Given the description of an element on the screen output the (x, y) to click on. 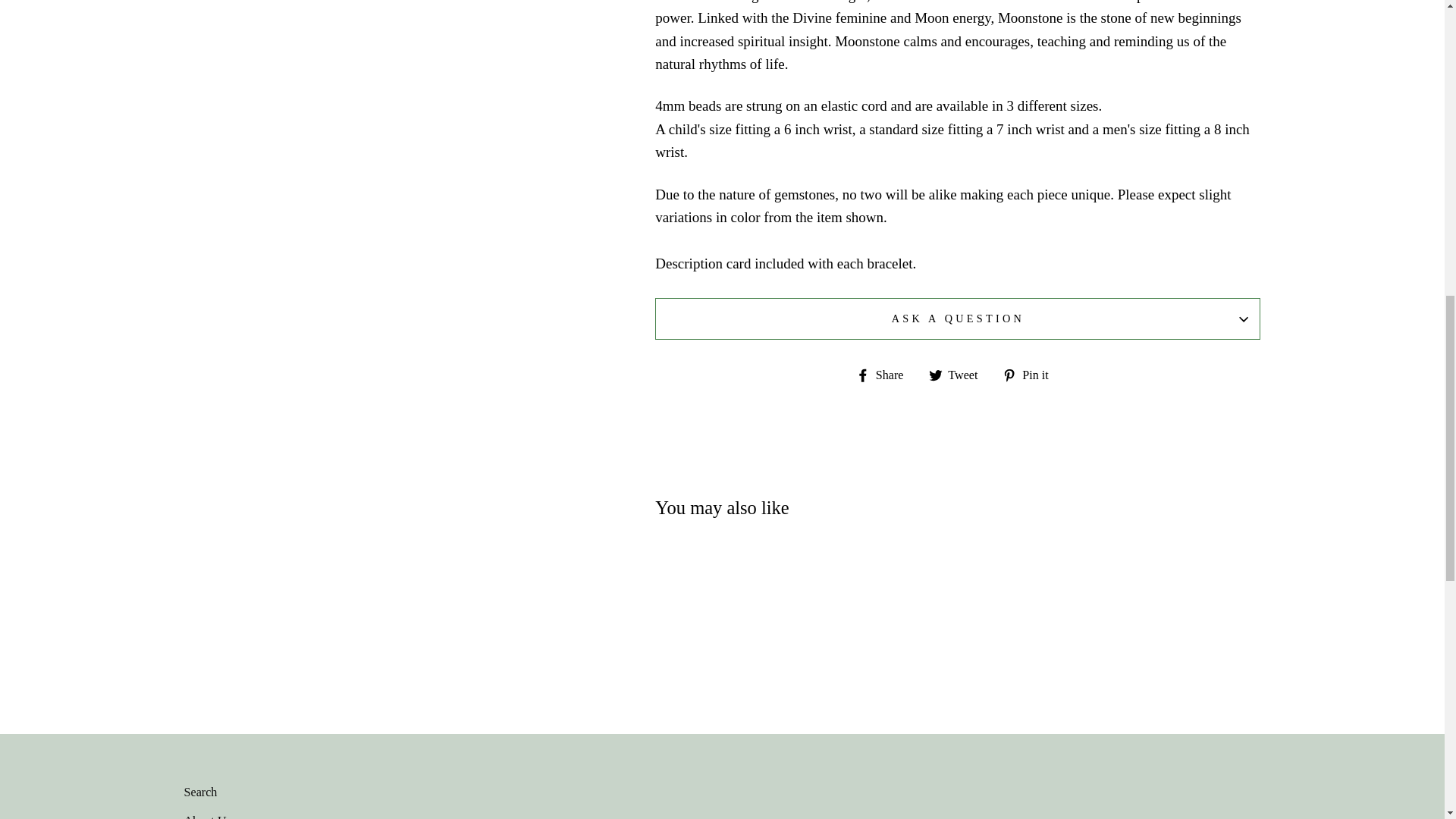
Tweet on Twitter (959, 373)
Share on Facebook (885, 373)
Pin on Pinterest (1031, 373)
